Given the description of an element on the screen output the (x, y) to click on. 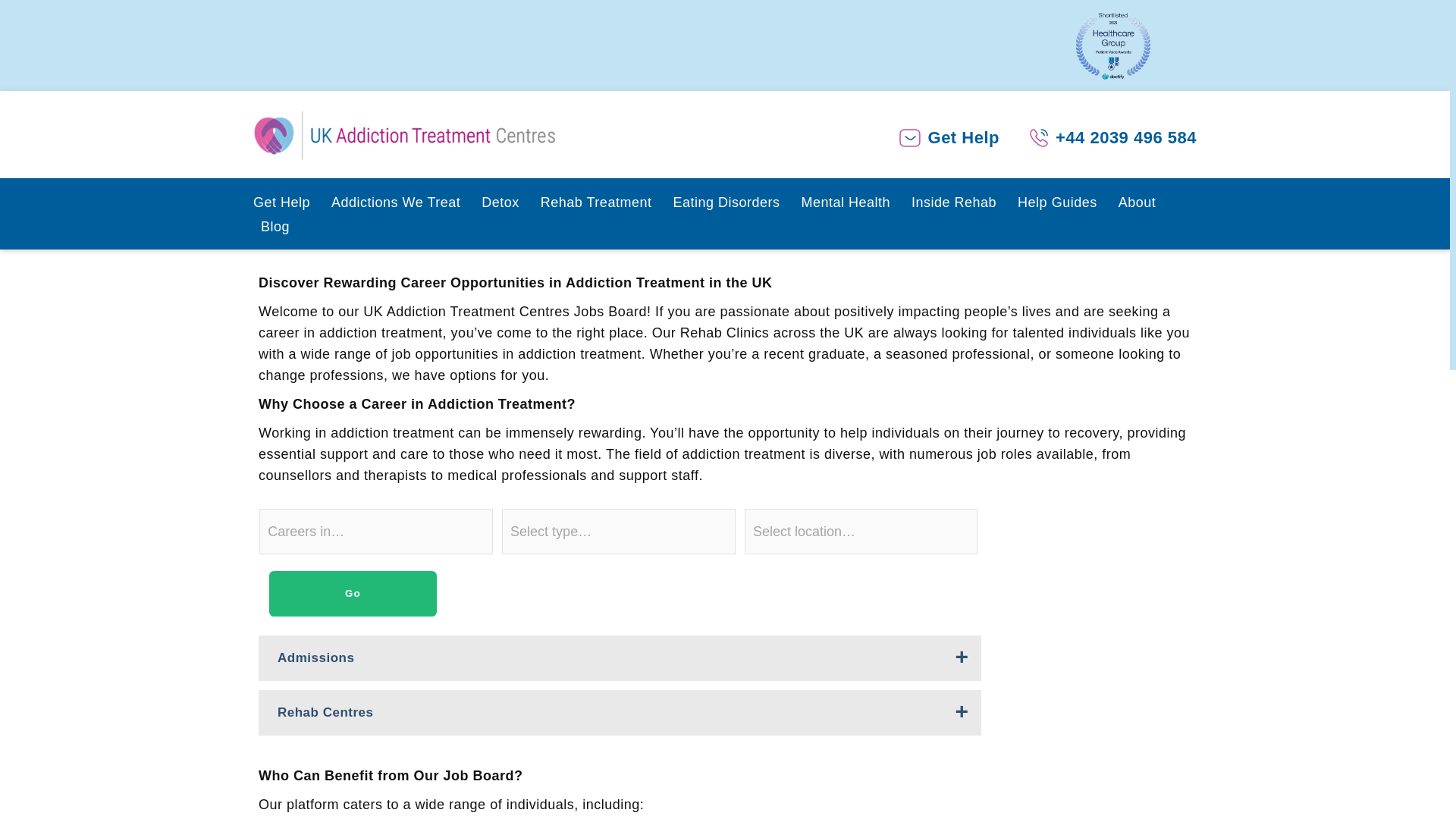
Addictions We Treat (398, 205)
Get Help (284, 205)
Get Help (963, 137)
Go (352, 593)
